Given the description of an element on the screen output the (x, y) to click on. 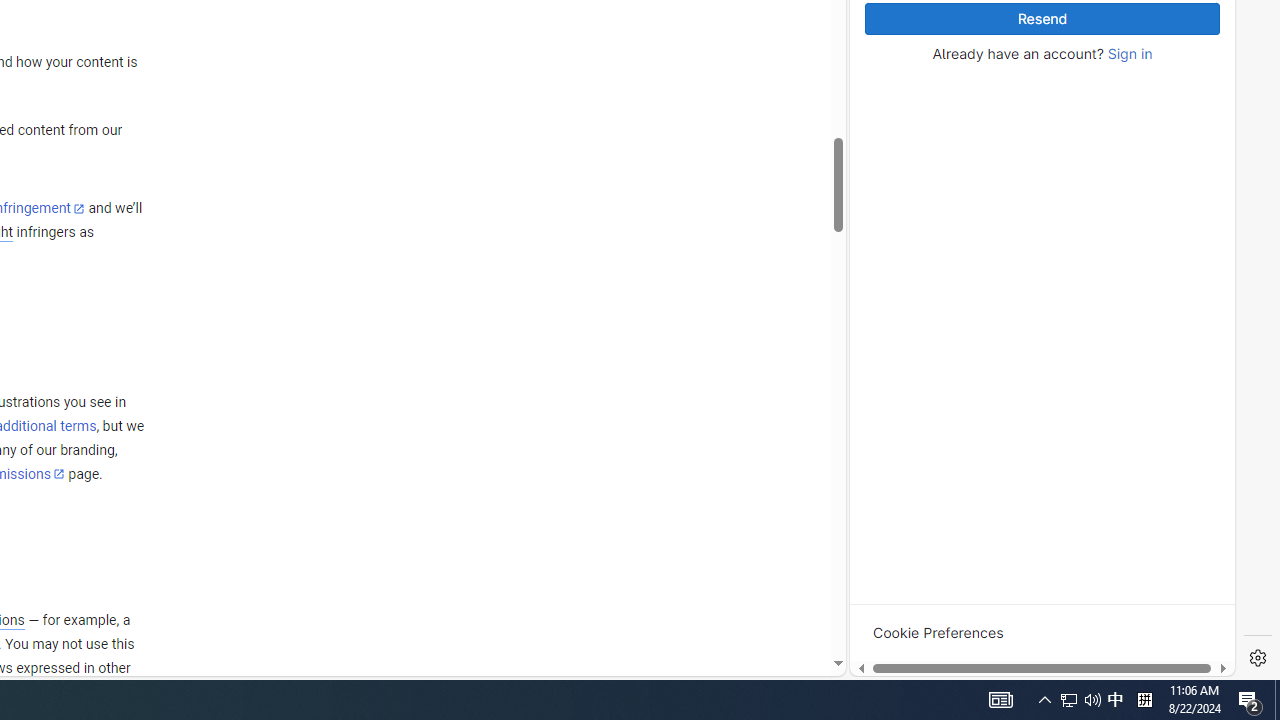
GitLab (966, 678)
View details (1145, 256)
View details (1145, 255)
Resend (1042, 19)
Cookie Preferences (938, 632)
